Given the description of an element on the screen output the (x, y) to click on. 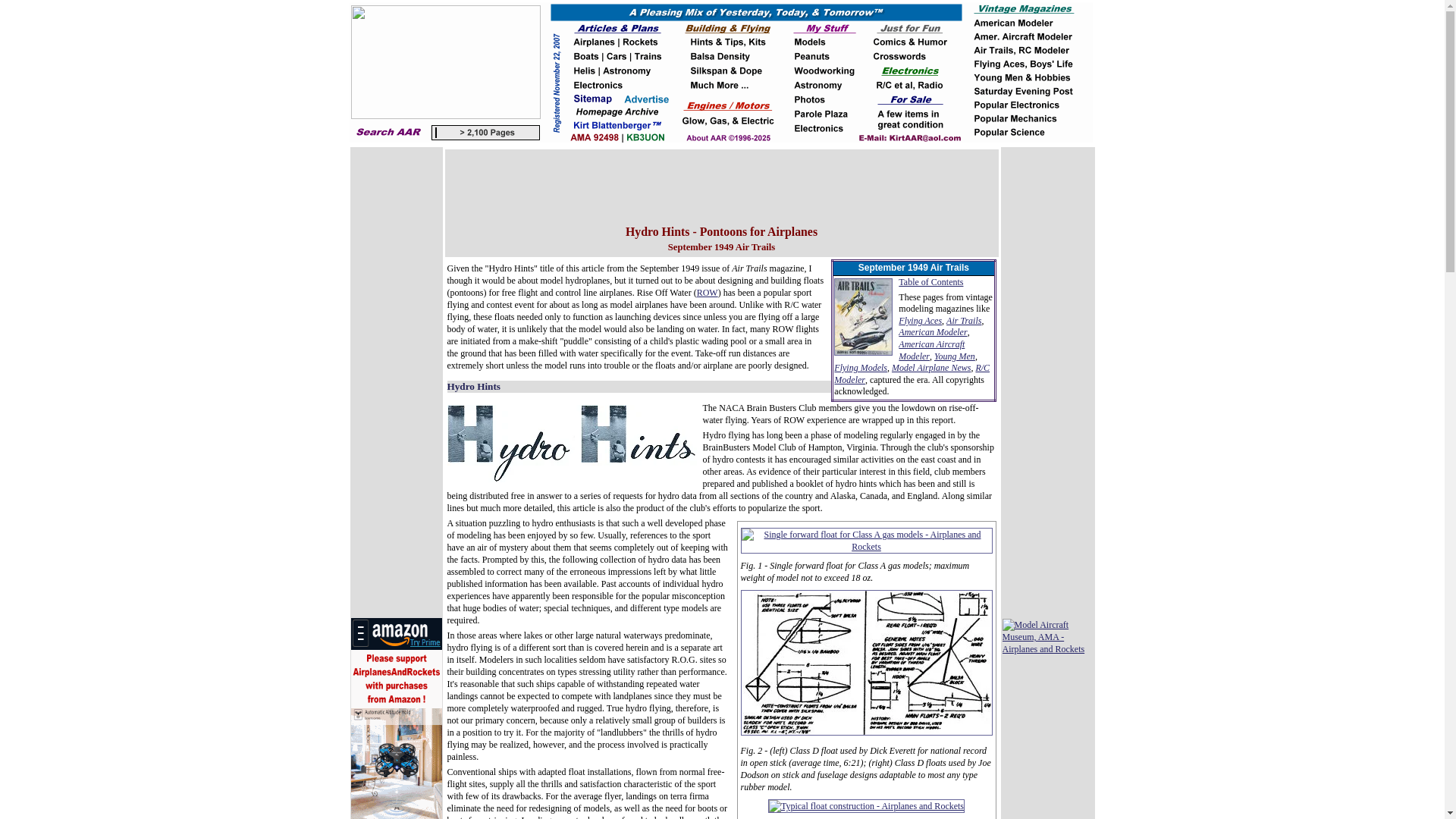
Table of Contents (930, 281)
Flying Aces (920, 320)
American Modeler (932, 331)
ROW (707, 292)
Young Men (954, 356)
Air Trails (963, 320)
Flying Models (860, 367)
American Aircraft Modeler (930, 350)
Model Airplane News (931, 367)
